Given the description of an element on the screen output the (x, y) to click on. 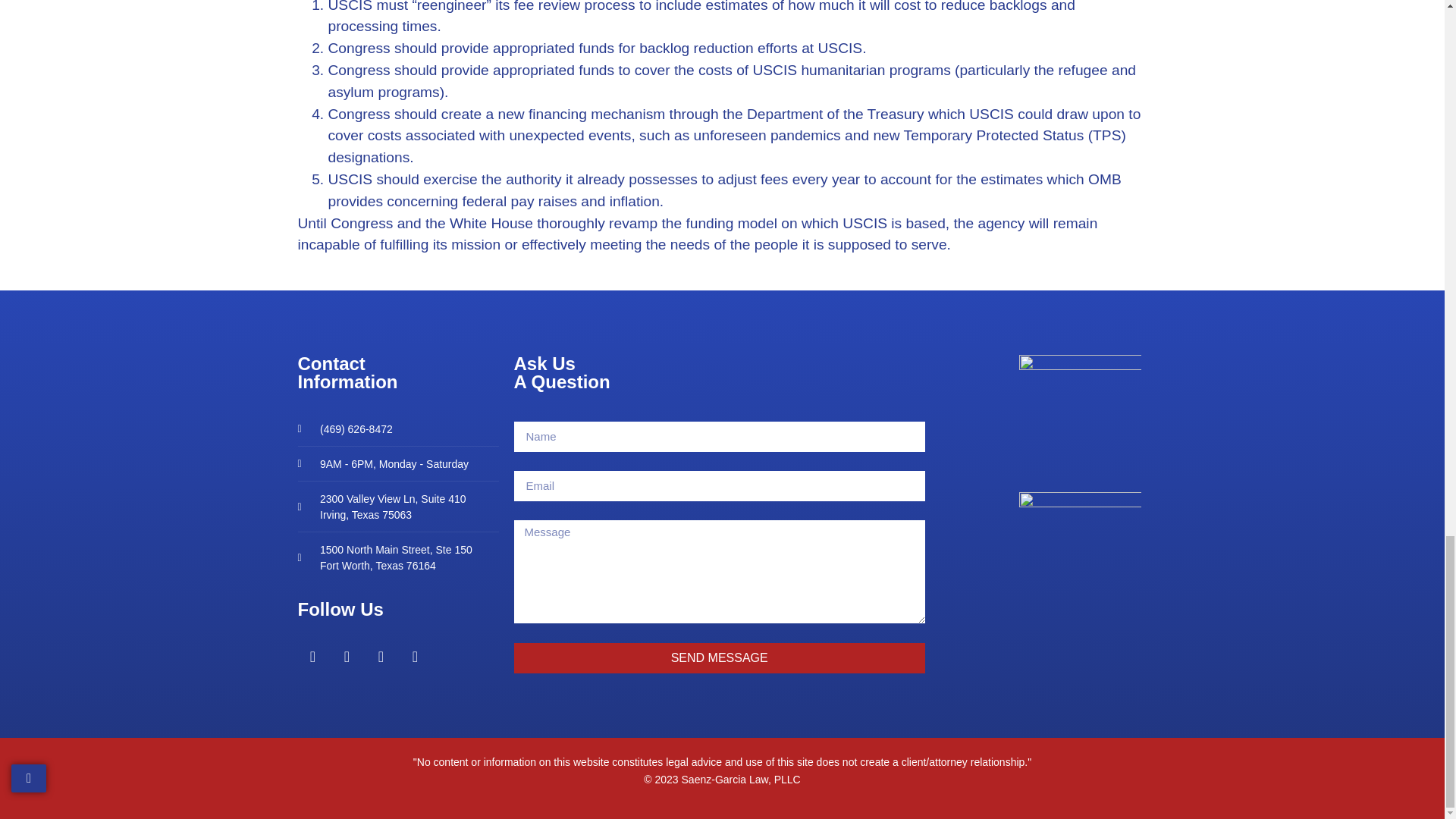
SEND MESSAGE (397, 558)
